Given the description of an element on the screen output the (x, y) to click on. 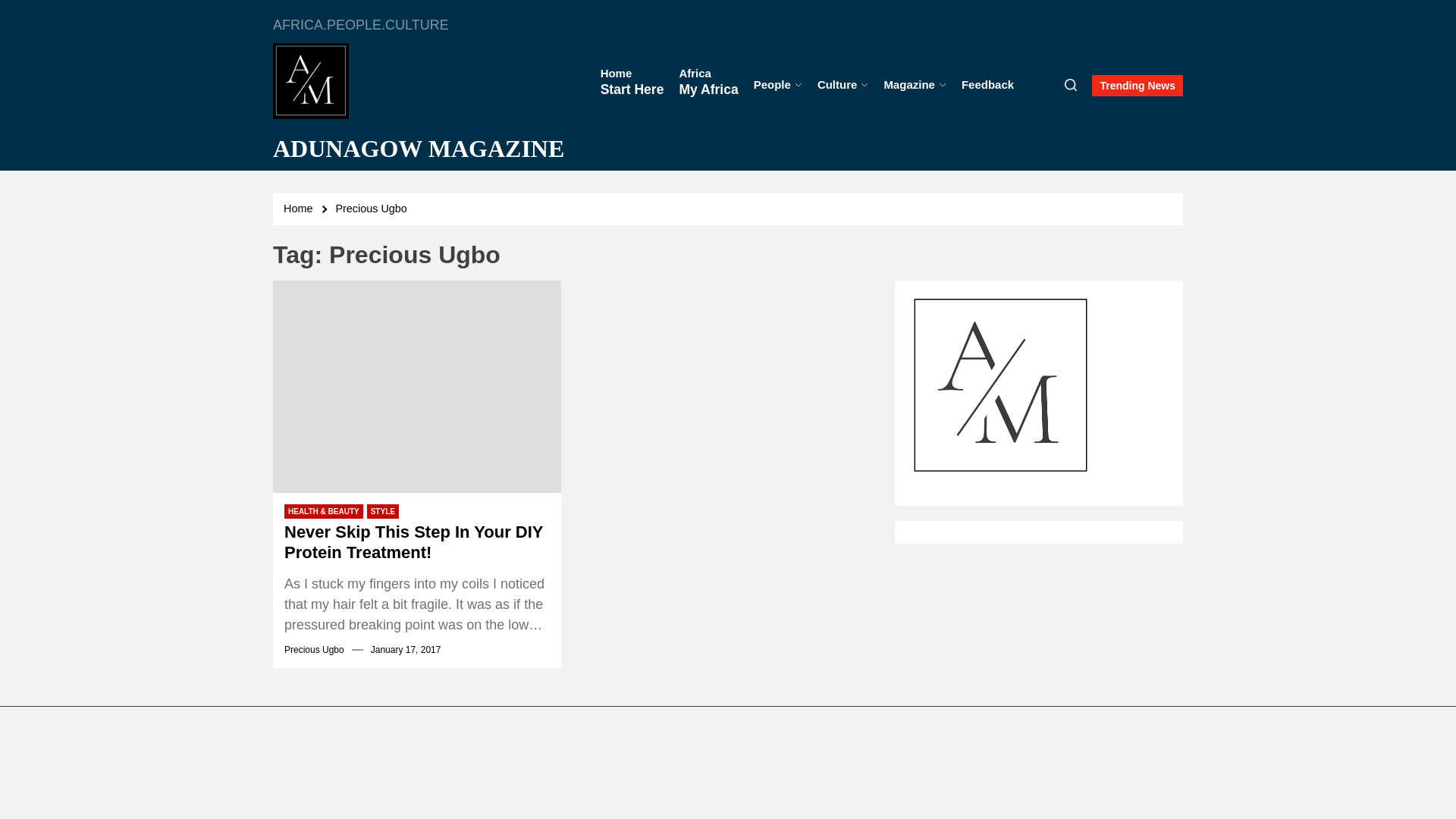
Feedback (986, 85)
Magazine (914, 85)
ADUNAGOW MAGAZINE (418, 148)
My Africa (708, 85)
Trending News (1137, 85)
Never Skip This Step In Your DIY Protein Treatment! (416, 542)
Culture (842, 85)
People (778, 85)
